Given the description of an element on the screen output the (x, y) to click on. 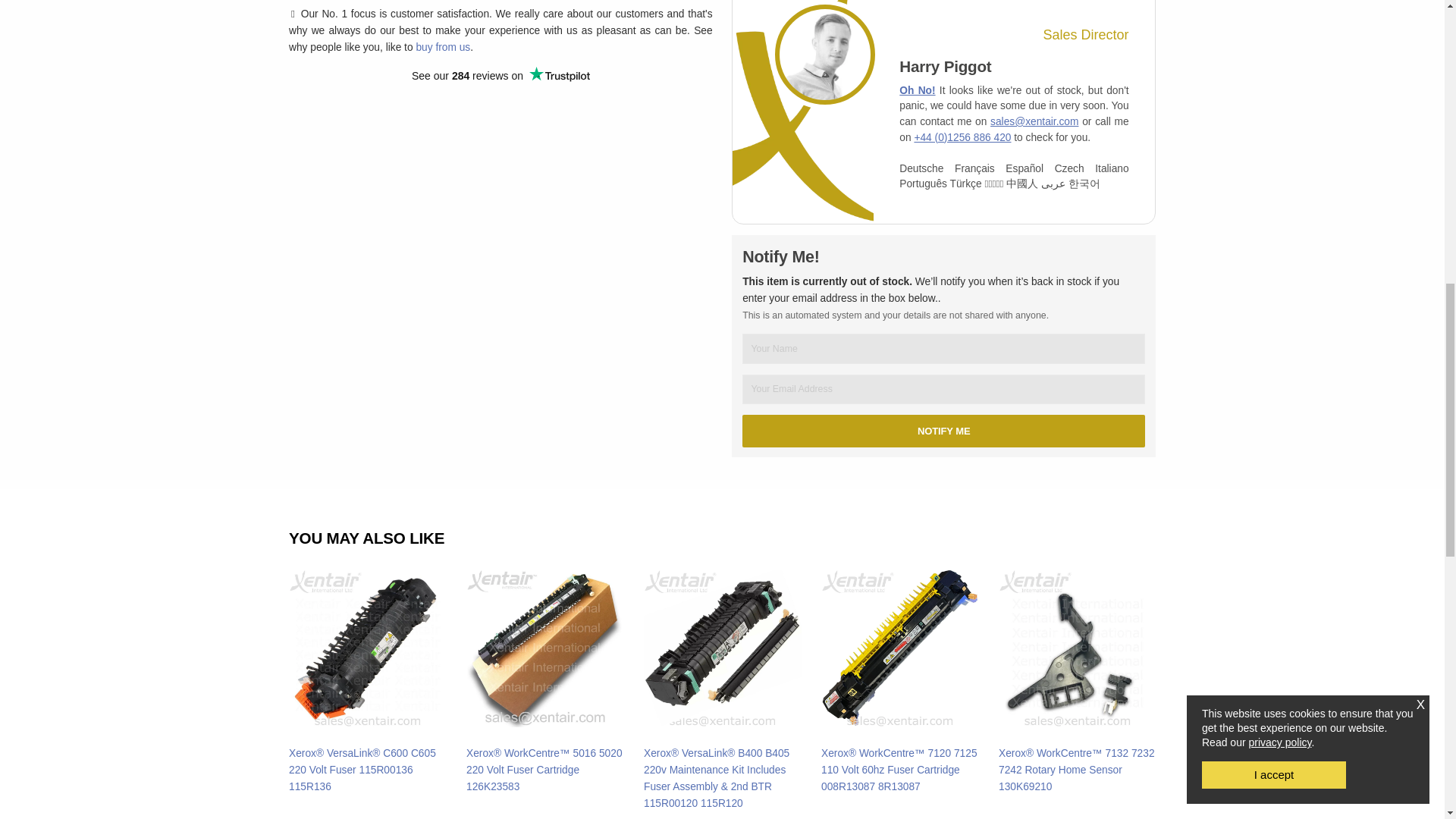
Customer reviews powered by Trustpilot (500, 73)
